Given the description of an element on the screen output the (x, y) to click on. 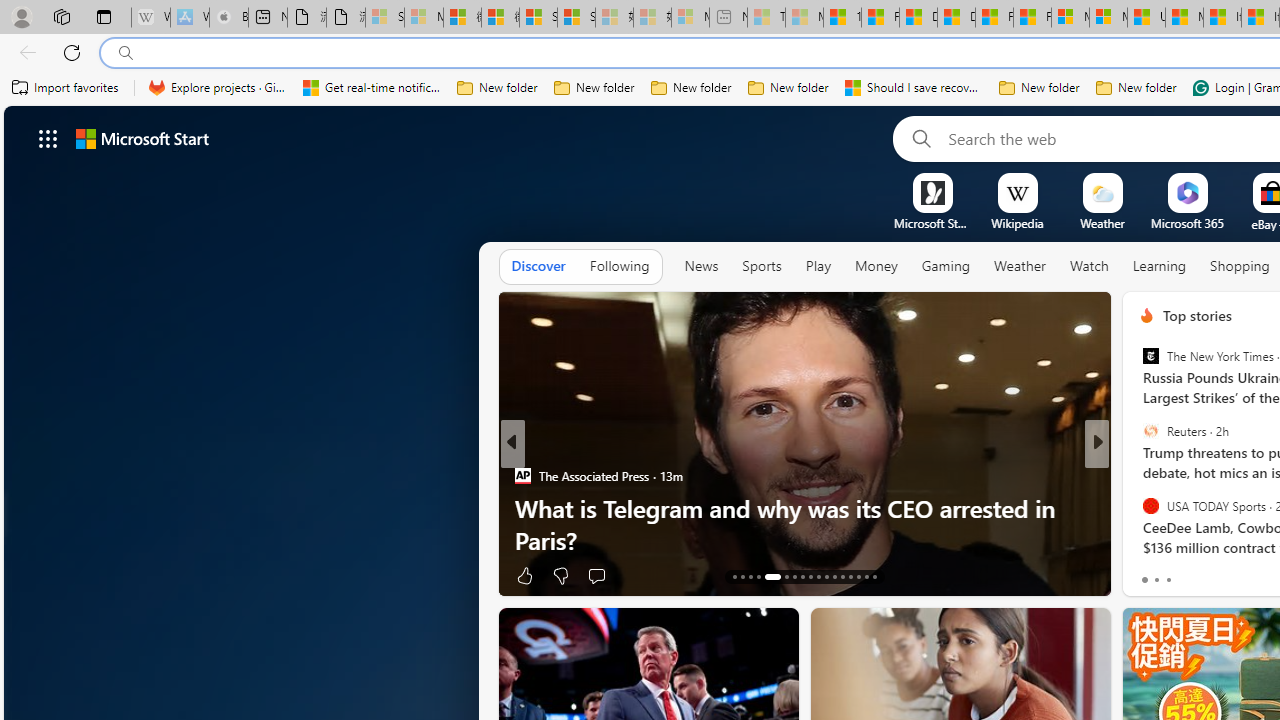
App launcher (47, 138)
Following (619, 267)
Start the conversation (1222, 575)
AutomationID: tab-13 (733, 576)
